Given the description of an element on the screen output the (x, y) to click on. 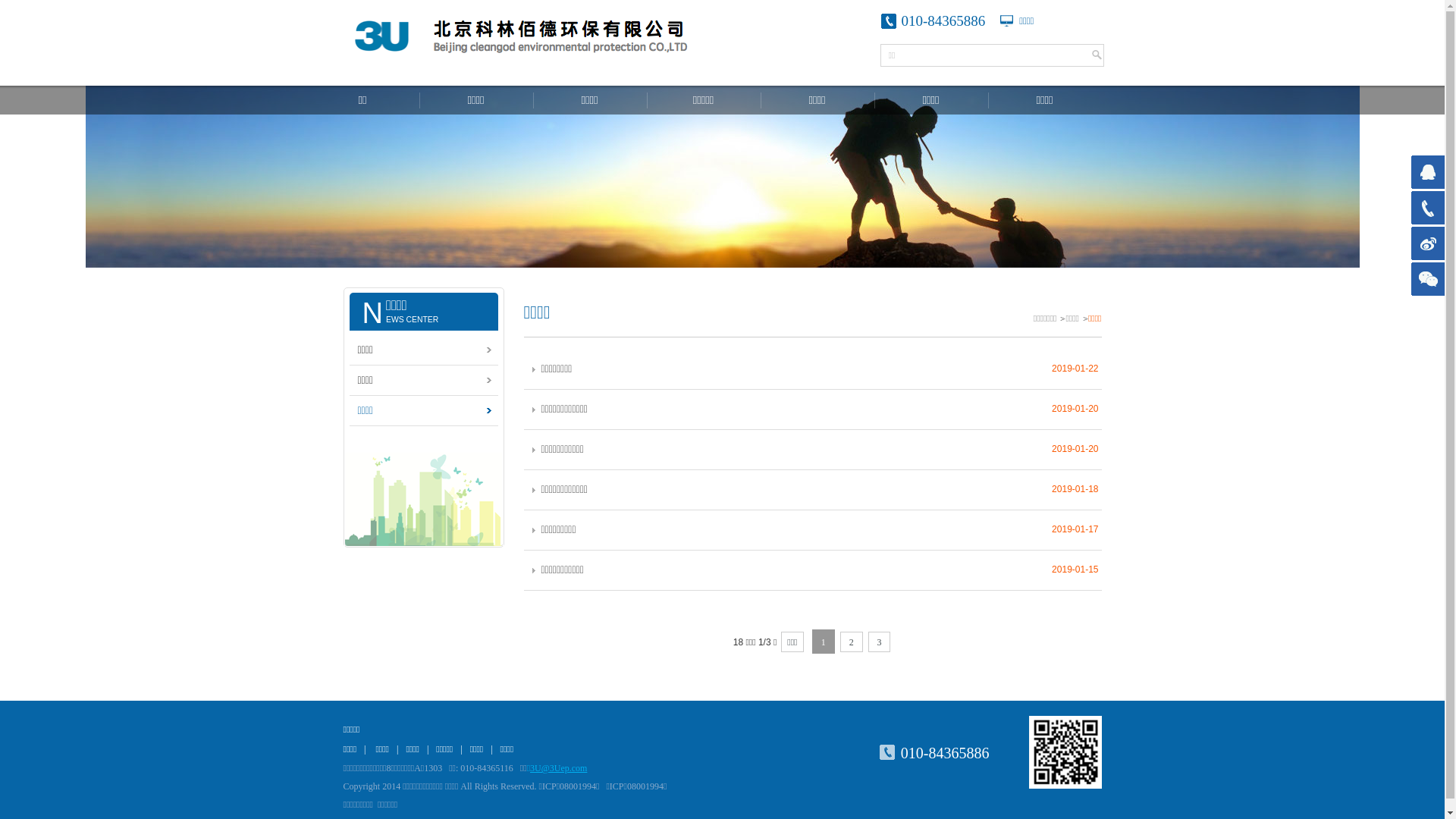
 3  Element type: text (879, 641)
3U@3Uep.com Element type: text (558, 767)
 2  Element type: text (851, 641)
